Given the description of an element on the screen output the (x, y) to click on. 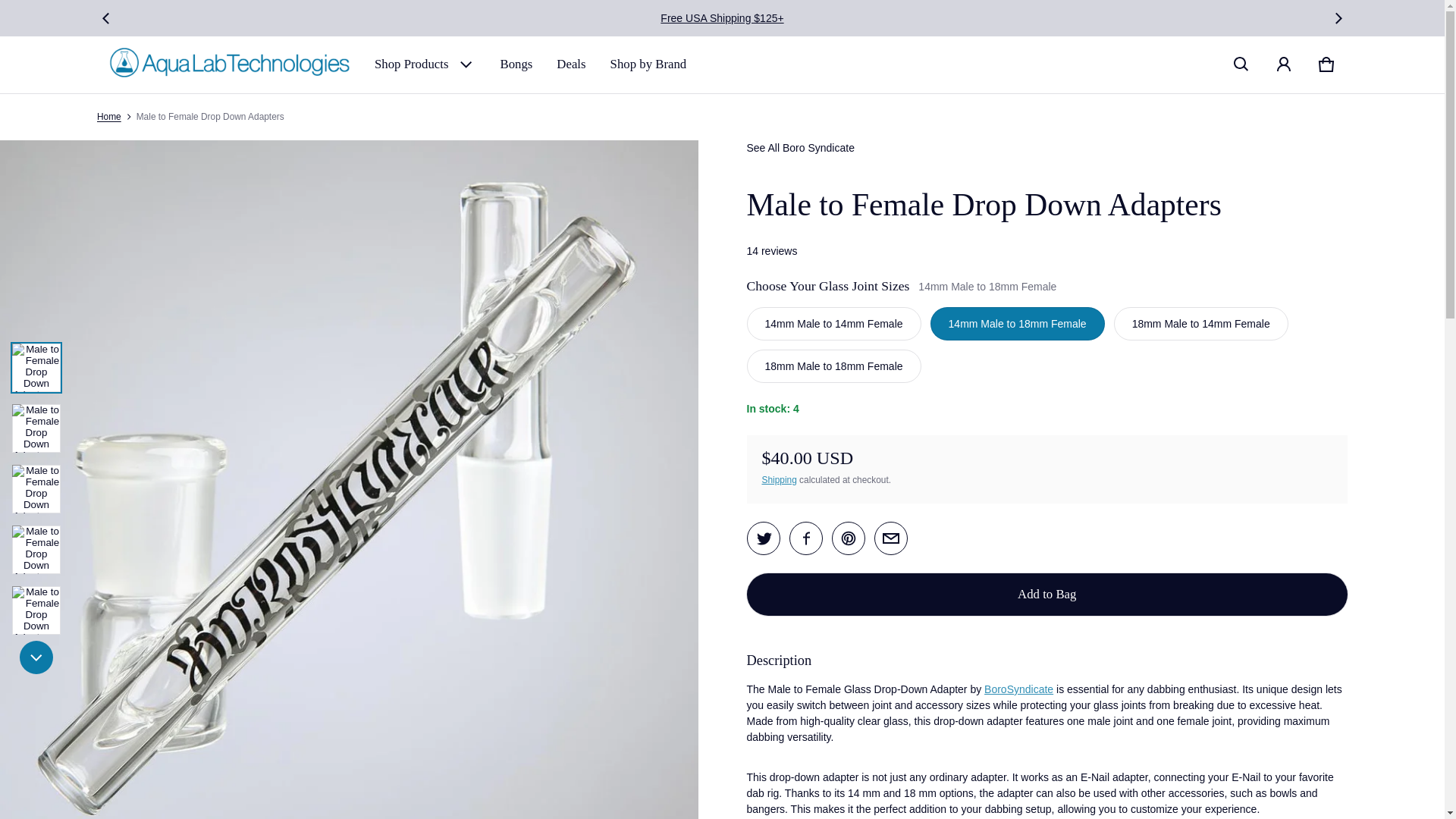
Male to Female Drop Down Adapters (889, 538)
BoroSyndicate (1018, 689)
Facebook (804, 538)
Pinterest (847, 538)
Twitter (762, 538)
